Given the description of an element on the screen output the (x, y) to click on. 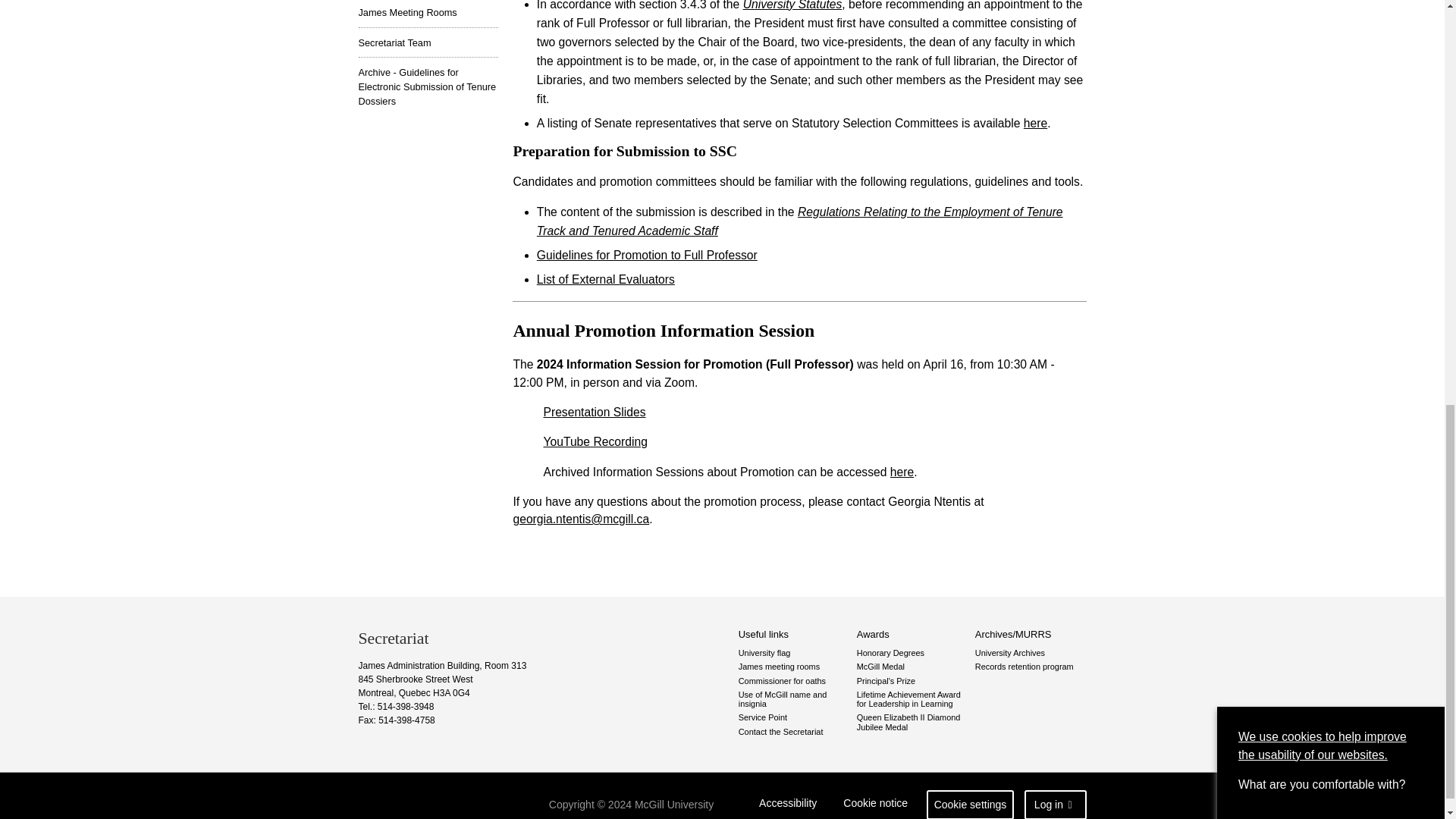
James Meeting Rooms (427, 13)
performance (1243, 60)
marketing (1243, 111)
required (1243, 9)
Secretariat Team (427, 41)
return to McGill University (417, 802)
here (1034, 123)
University Statutes (792, 5)
